Given the description of an element on the screen output the (x, y) to click on. 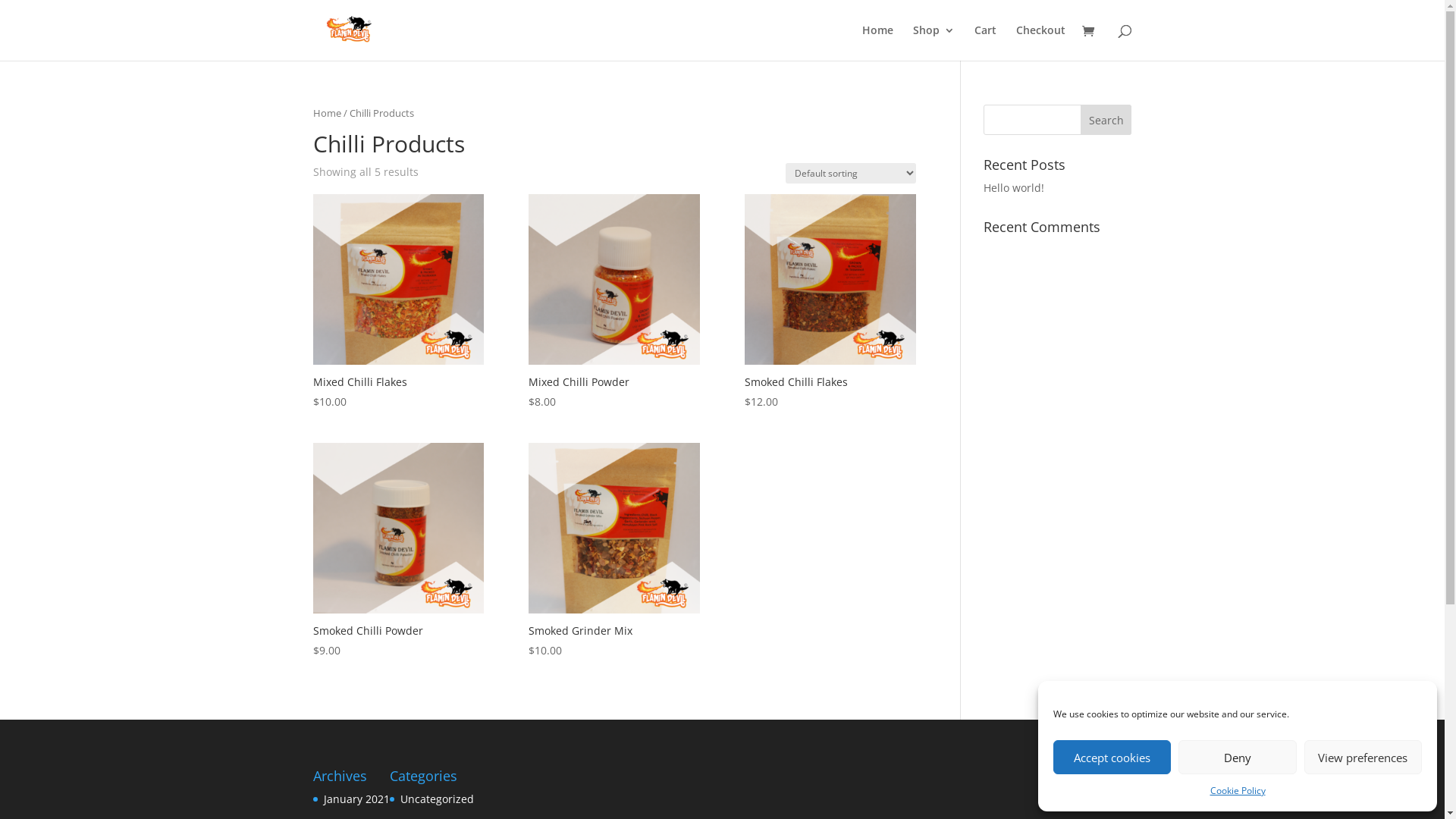
Uncategorized Element type: text (436, 798)
Cart Element type: text (984, 42)
Deny Element type: text (1236, 757)
Mixed Chilli Powder
$8.00 Element type: text (613, 302)
Smoked Chilli Flakes
$12.00 Element type: text (829, 302)
Cookie Policy Element type: text (1237, 790)
Search Element type: text (1106, 119)
Smoked Grinder Mix
$10.00 Element type: text (613, 550)
Accept cookies Element type: text (1111, 757)
View preferences Element type: text (1362, 757)
Home Element type: text (876, 42)
Mixed Chilli Flakes
$10.00 Element type: text (397, 302)
Shop Element type: text (933, 42)
January 2021 Element type: text (356, 798)
Smoked Chilli Powder
$9.00 Element type: text (397, 550)
Checkout Element type: text (1040, 42)
Home Element type: text (326, 112)
Hello world! Element type: text (1013, 187)
